Given the description of an element on the screen output the (x, y) to click on. 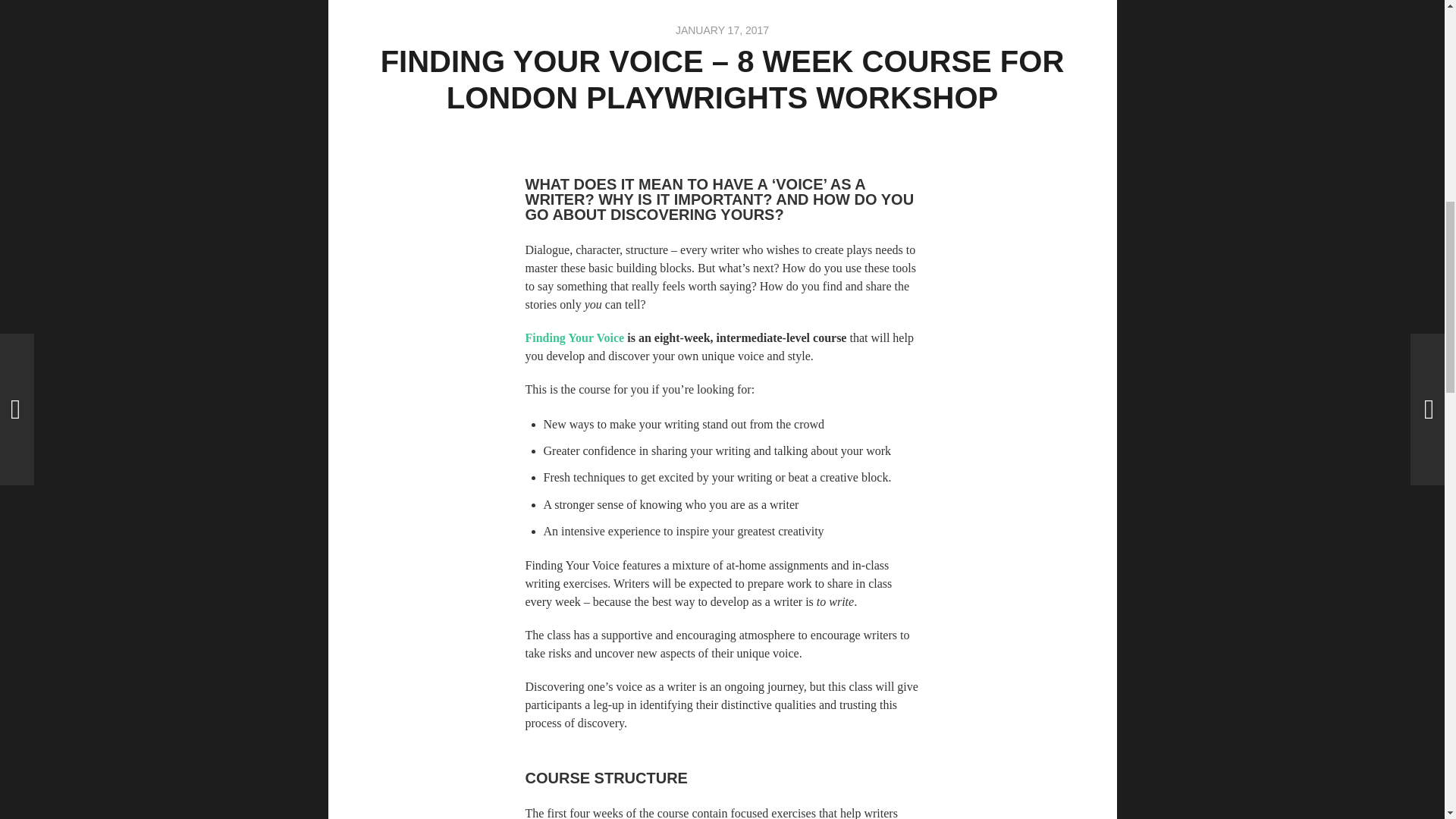
Finding Your Voice (574, 337)
